Given the description of an element on the screen output the (x, y) to click on. 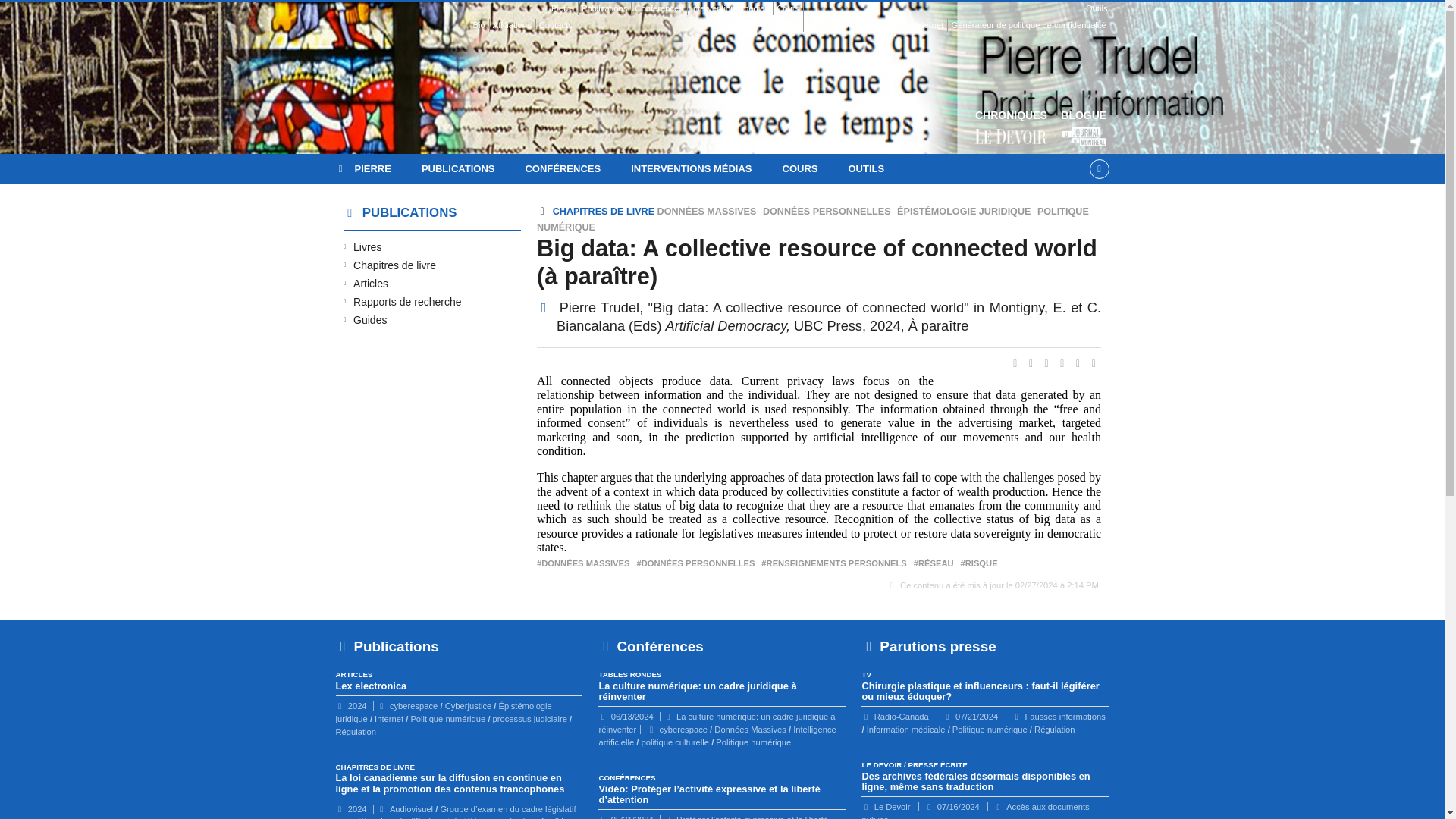
Sauver via Pocket (1093, 363)
Contacts (555, 24)
Sauver via Evernote (1079, 363)
Bio (477, 24)
CHRONIQUES (1011, 128)
Chroniques Le Devoir (1011, 128)
OUTILS (865, 168)
Publications (603, 8)
Affiliations (512, 24)
COURS (799, 168)
Cours (787, 8)
Guide des droits sur Internet (889, 24)
Pierre (507, 8)
BLOGUE (1083, 128)
Outils (956, 8)
